Given the description of an element on the screen output the (x, y) to click on. 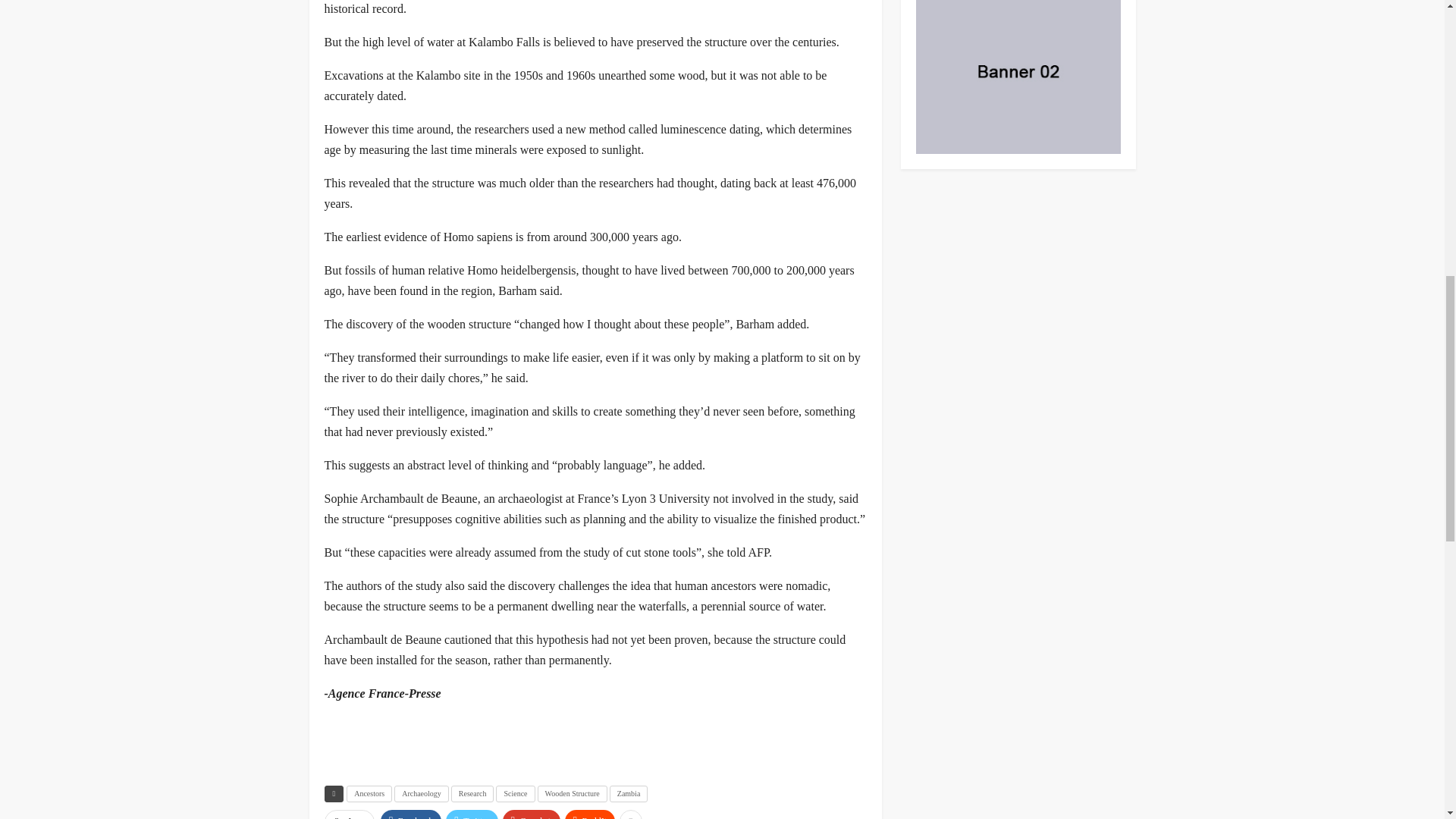
Ancestors (368, 793)
Archaeology (421, 793)
Research (473, 793)
